Given the description of an element on the screen output the (x, y) to click on. 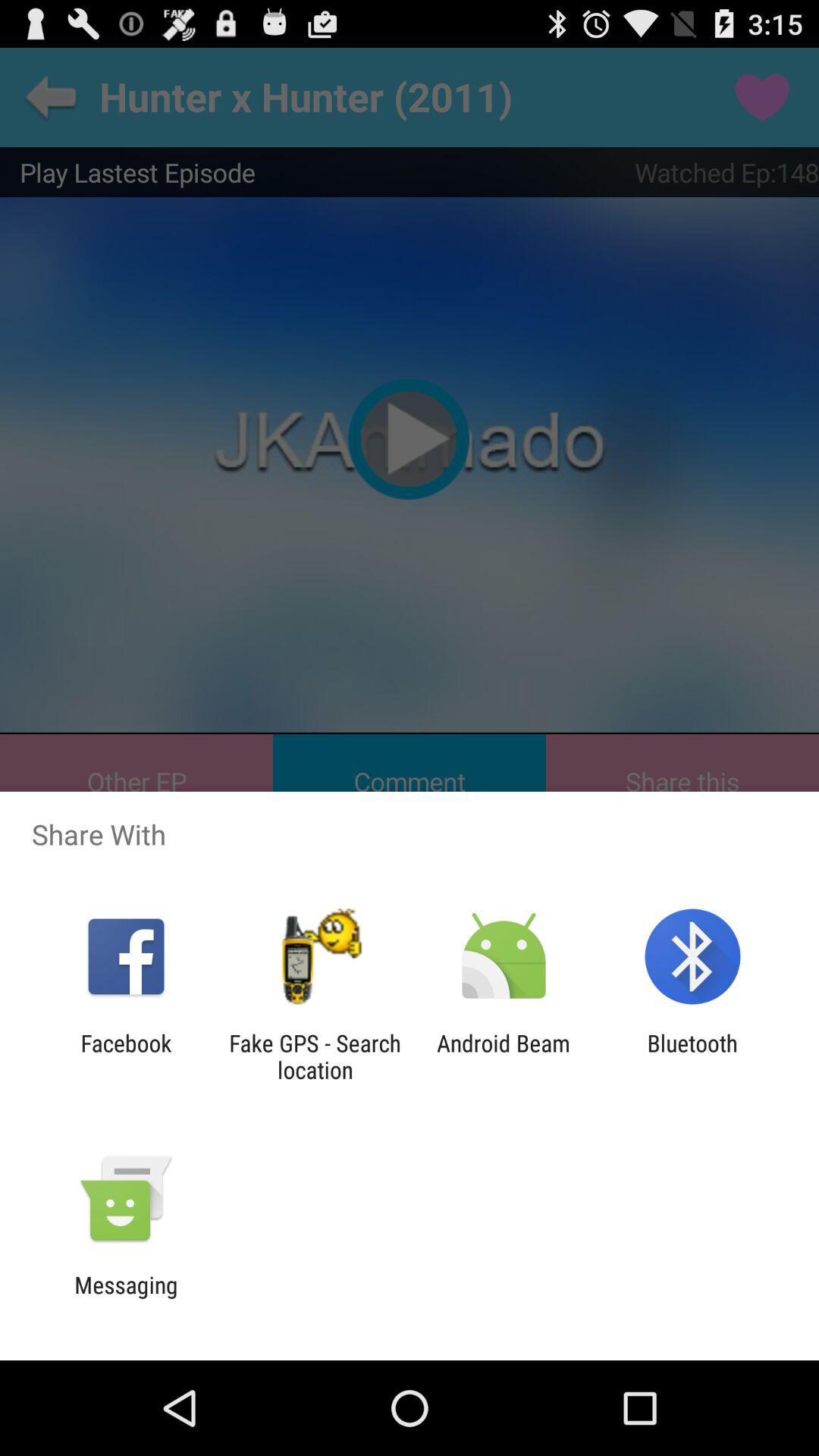
click the bluetooth (692, 1056)
